Given the description of an element on the screen output the (x, y) to click on. 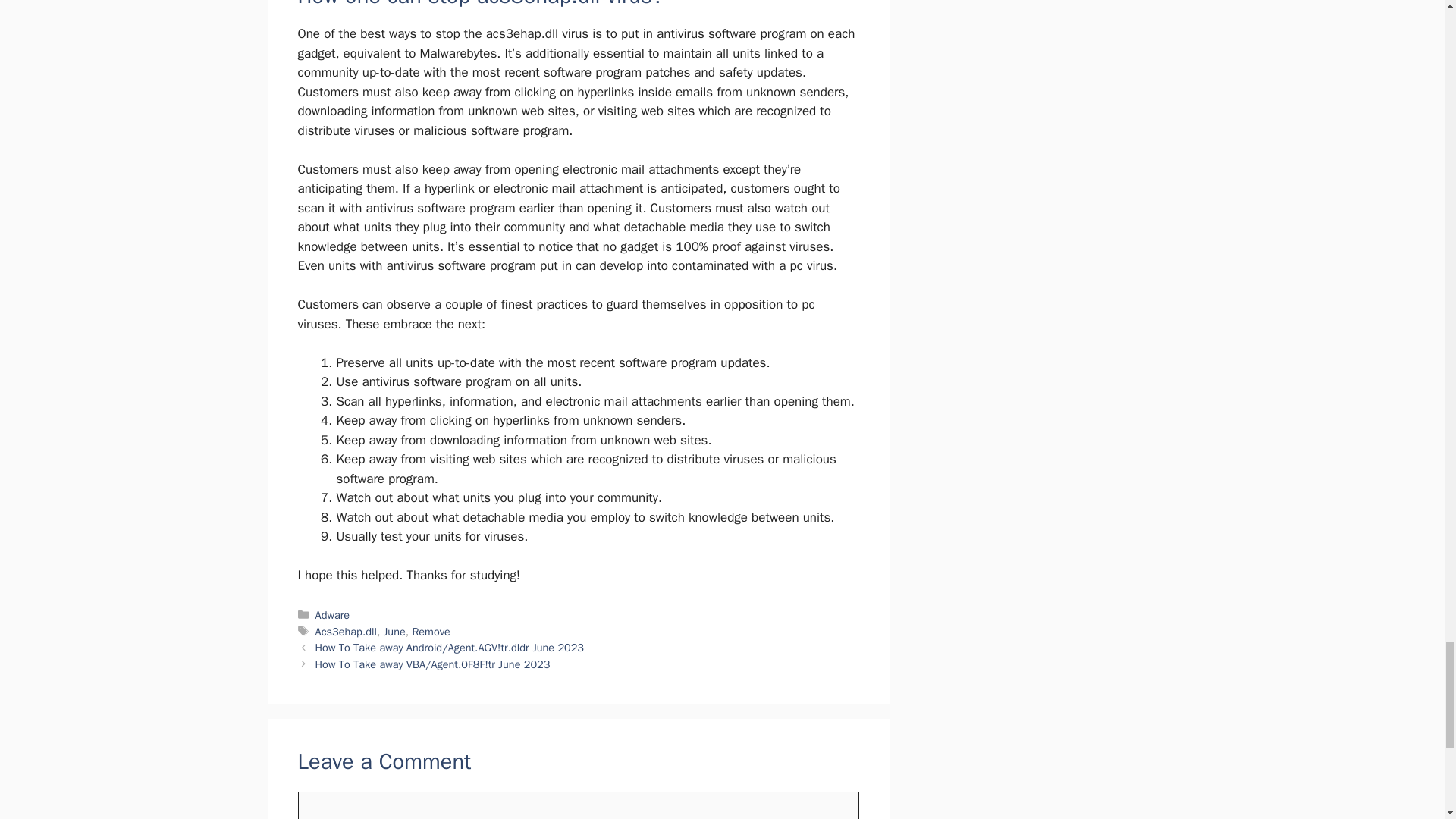
Adware (332, 614)
June (395, 631)
Remove (430, 631)
Acs3ehap.dll (346, 631)
